Given the description of an element on the screen output the (x, y) to click on. 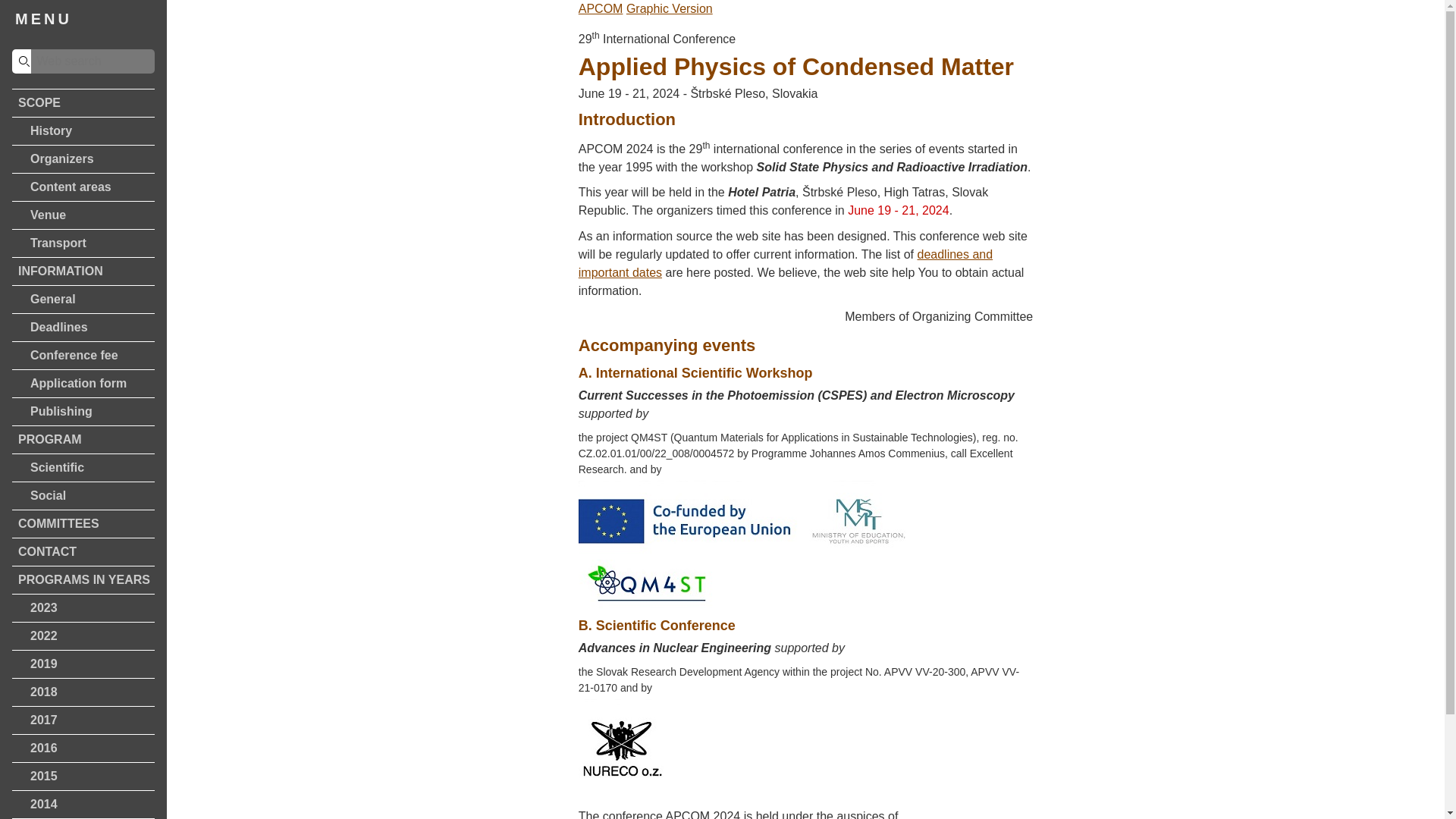
Graphic Version (669, 8)
General (82, 298)
Transport (82, 243)
Conference fee (82, 355)
PROGRAM (82, 439)
History (82, 130)
Organizers (82, 158)
SCOPE (82, 103)
INFORMATION (82, 271)
Application form (82, 383)
APCOM (600, 8)
deadlines and important dates (785, 263)
Venue (82, 215)
Content areas (82, 186)
Deadlines (82, 327)
